Given the description of an element on the screen output the (x, y) to click on. 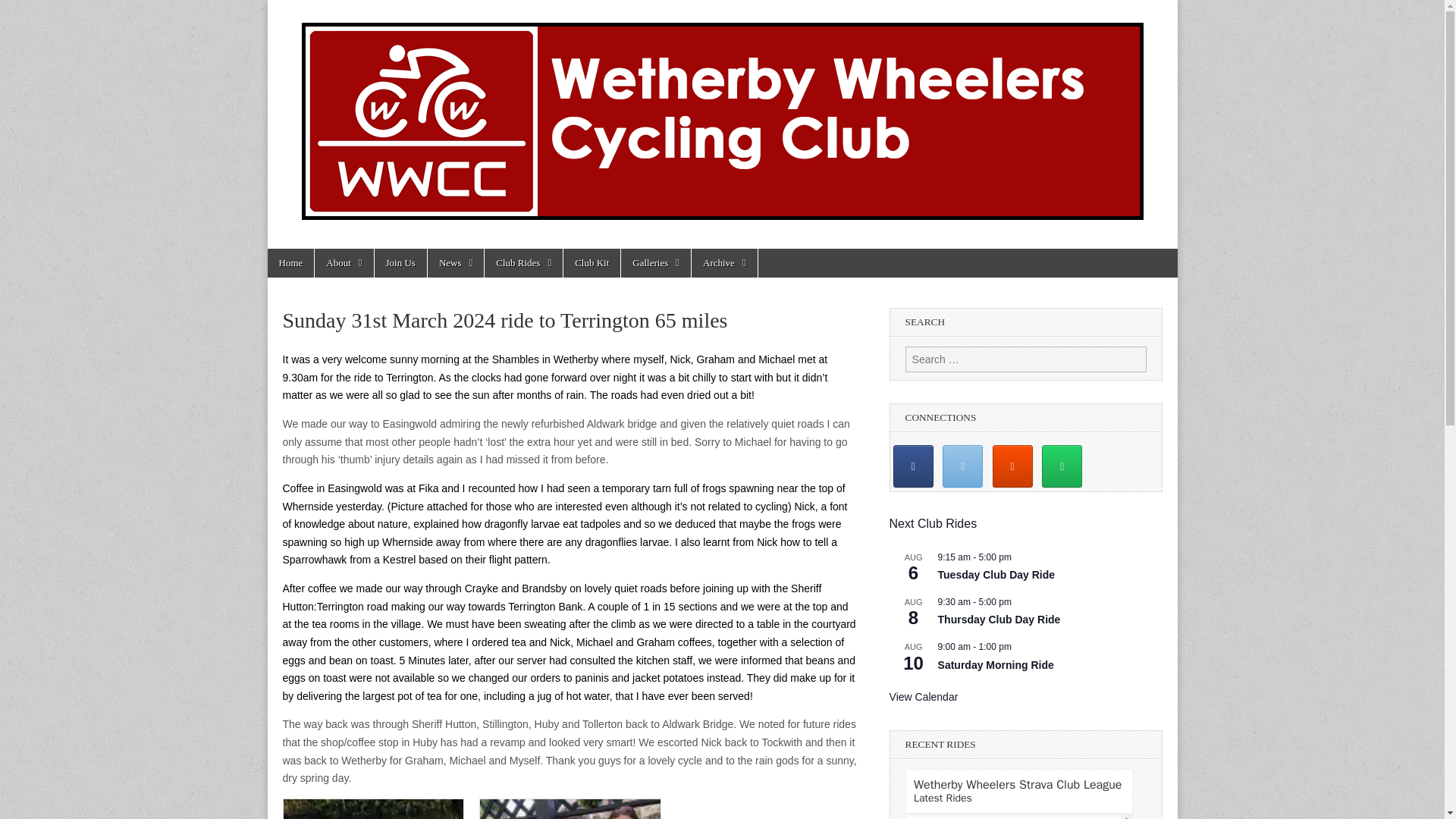
Club Rides (523, 262)
Club Kit (591, 262)
Wetherby Wheelers on  (1112, 466)
Galleries (655, 262)
Wetherby Wheelers on Envelope (962, 466)
Wetherby Wheelers (352, 284)
Join Us (400, 262)
Saturday Morning Ride (995, 665)
Archive (724, 262)
Home (290, 262)
View more events. (923, 697)
Wetherby Wheelers Strava Open Group (1012, 466)
Tuesday Club Day Ride (996, 574)
